Given the description of an element on the screen output the (x, y) to click on. 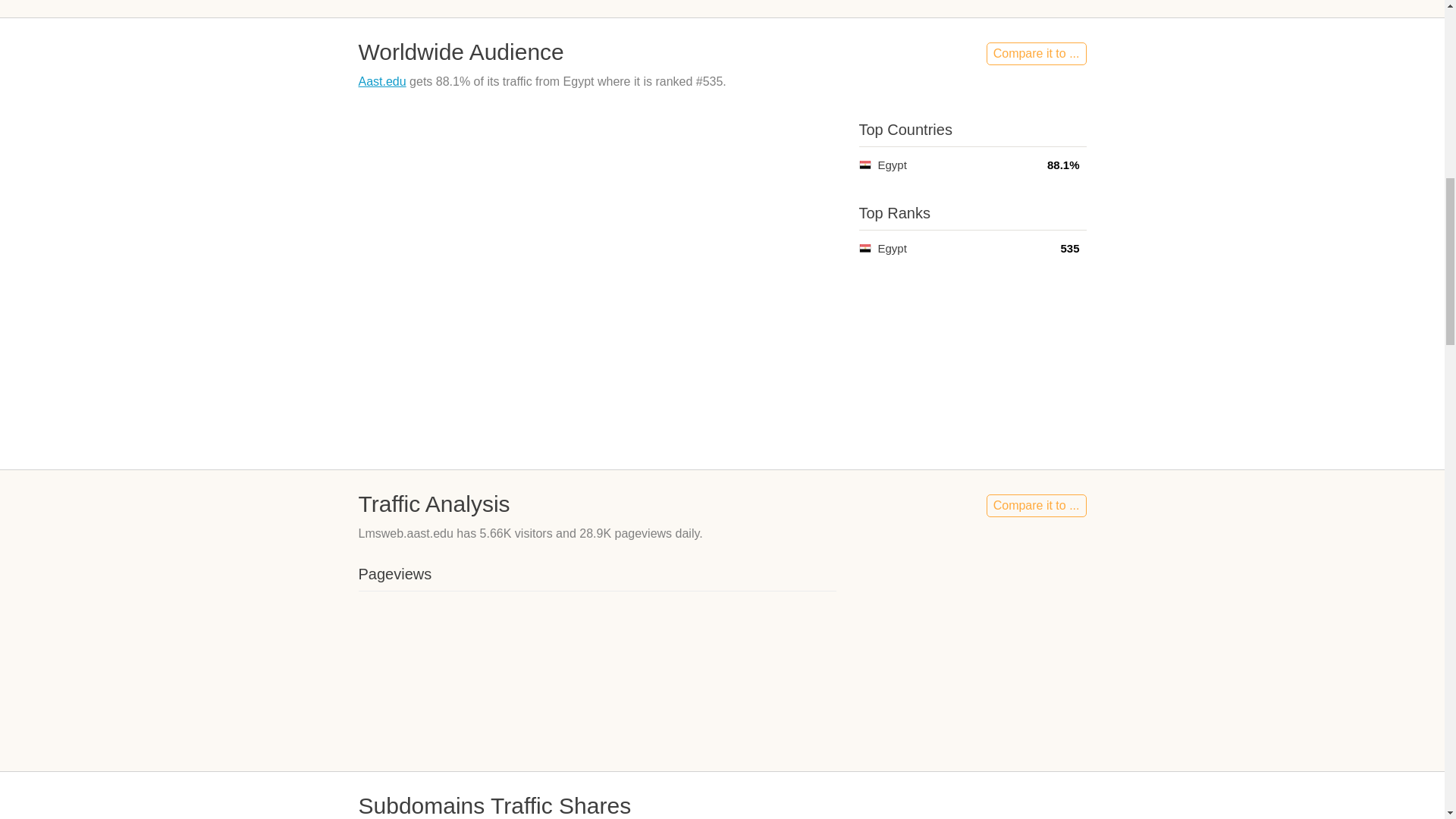
Egypt (864, 164)
Compare it to ... (1036, 53)
Egypt (864, 248)
Aast.edu (382, 81)
Compare it to ... (1036, 505)
